Given the description of an element on the screen output the (x, y) to click on. 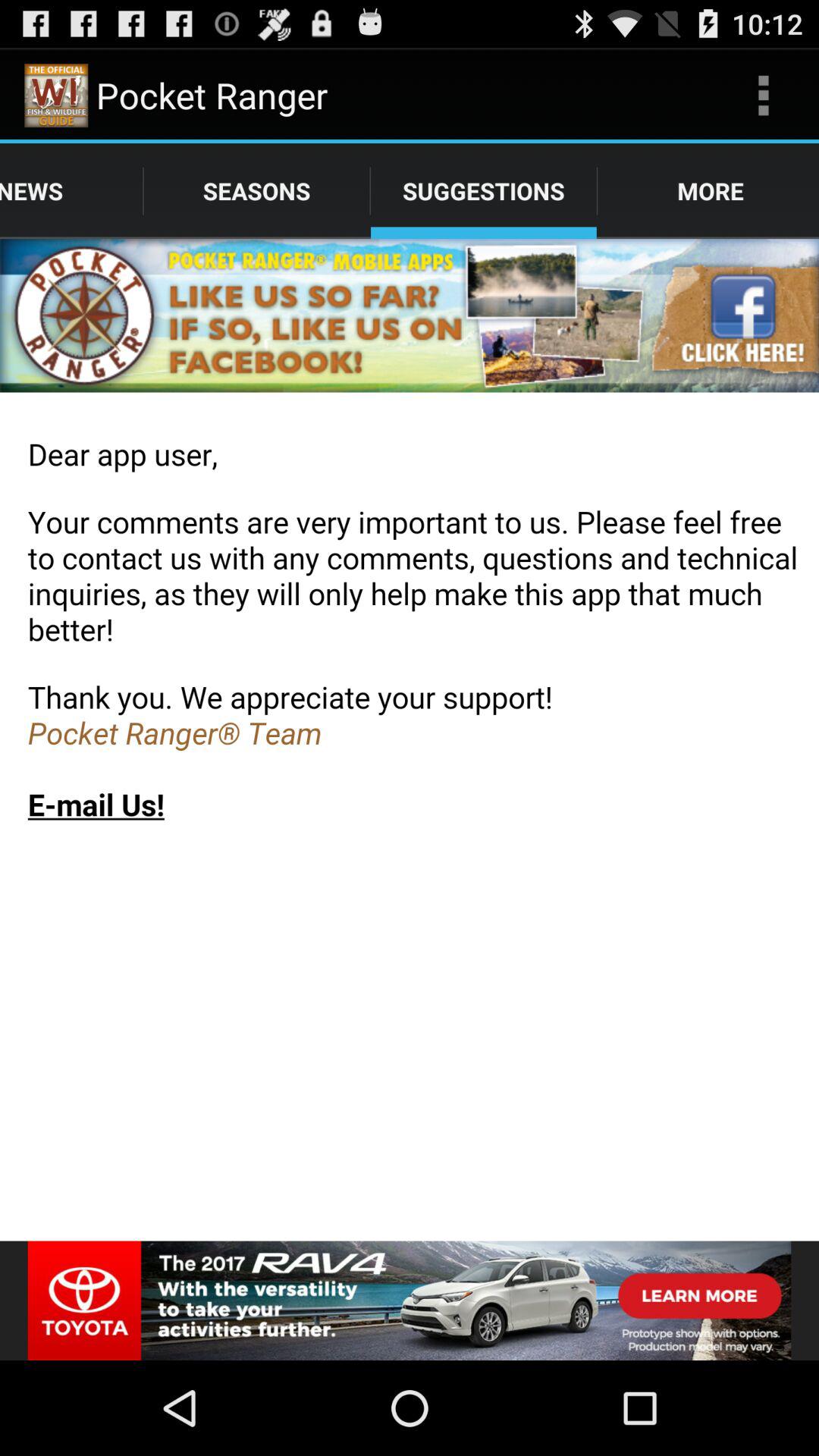
see advertisement (409, 1300)
